Given the description of an element on the screen output the (x, y) to click on. 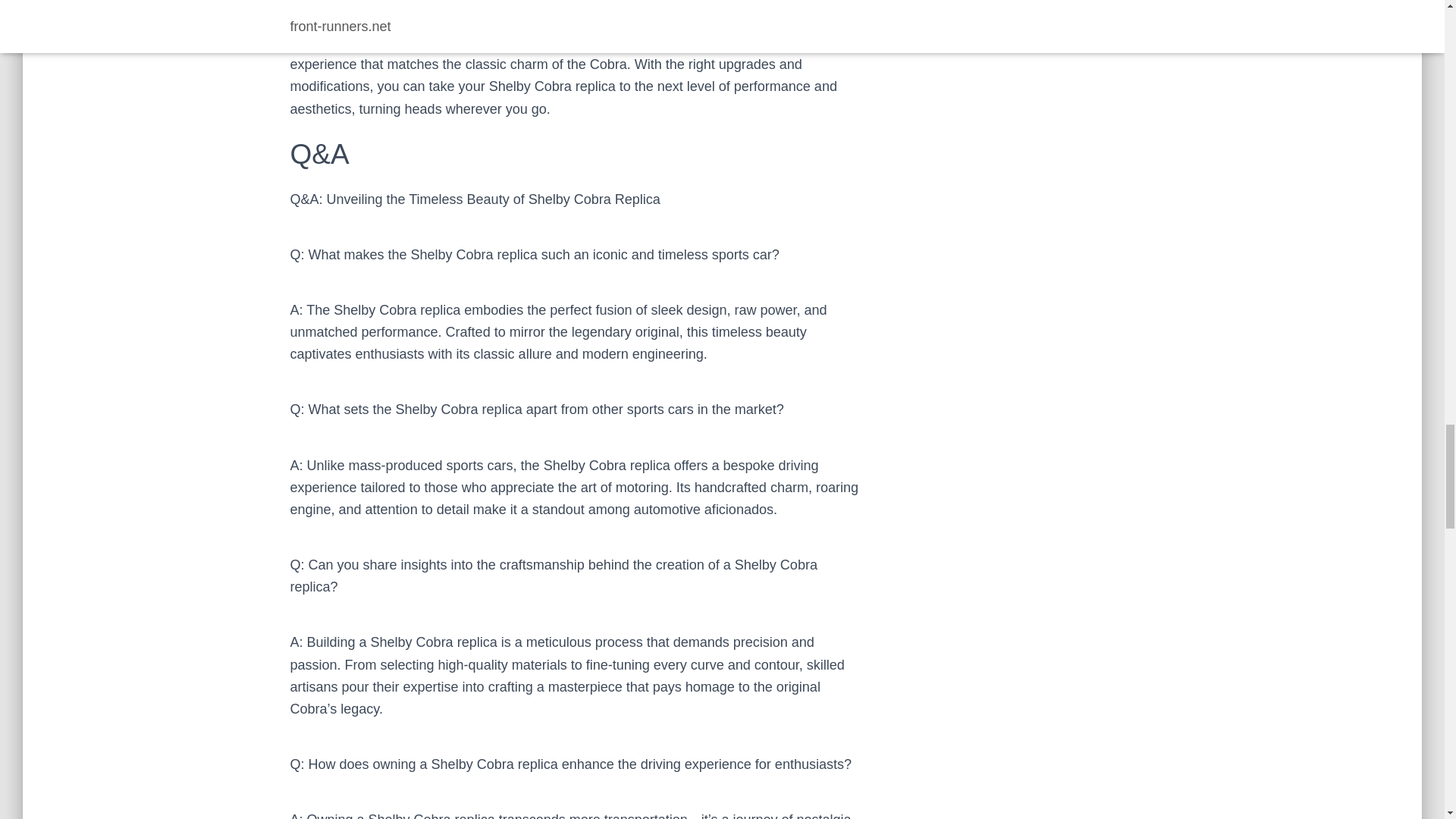
shelby cobra 69 (745, 20)
cold air intakes (444, 2)
dodge car dart (444, 2)
custom leather seats (745, 20)
